Given the description of an element on the screen output the (x, y) to click on. 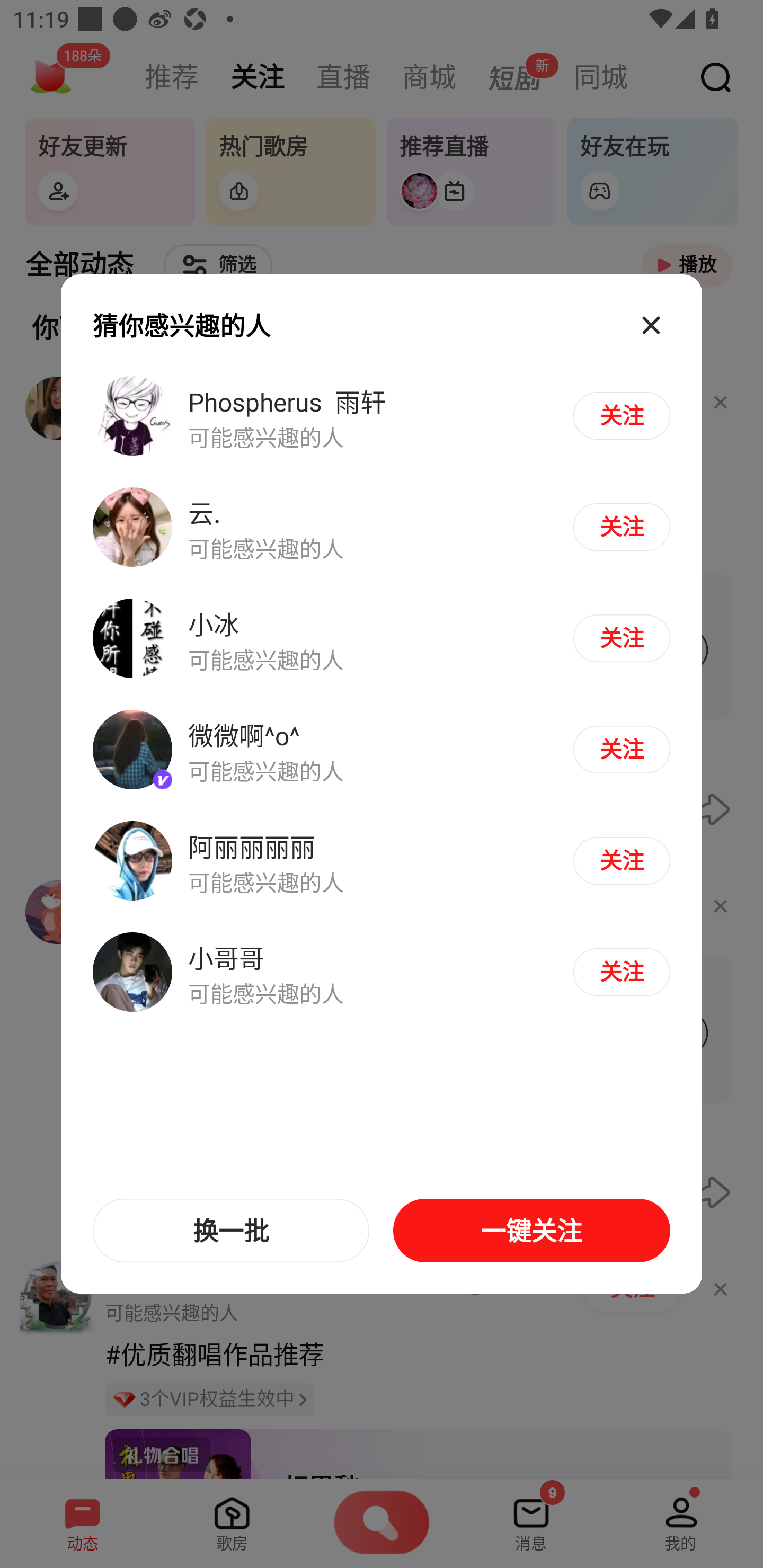
Phospherus  雨轩 可能感兴趣的人 关注 按钮 (381, 415)
关注 按钮 (621, 415)
云. 可能感兴趣的人 关注 按钮 (381, 527)
关注 按钮 (621, 526)
小冰 可能感兴趣的人 关注 按钮 (381, 638)
关注 按钮 (621, 637)
微微啊^o^ 可能感兴趣的人 关注 按钮 (381, 749)
关注 按钮 (621, 749)
阿丽丽丽丽 可能感兴趣的人 关注 按钮 (381, 860)
关注 按钮 (621, 860)
小哥哥 可能感兴趣的人 关注 按钮 (381, 971)
关注 按钮 (621, 971)
换一批 按钮 (231, 1230)
一键关注 按钮 (530, 1230)
